Given the description of an element on the screen output the (x, y) to click on. 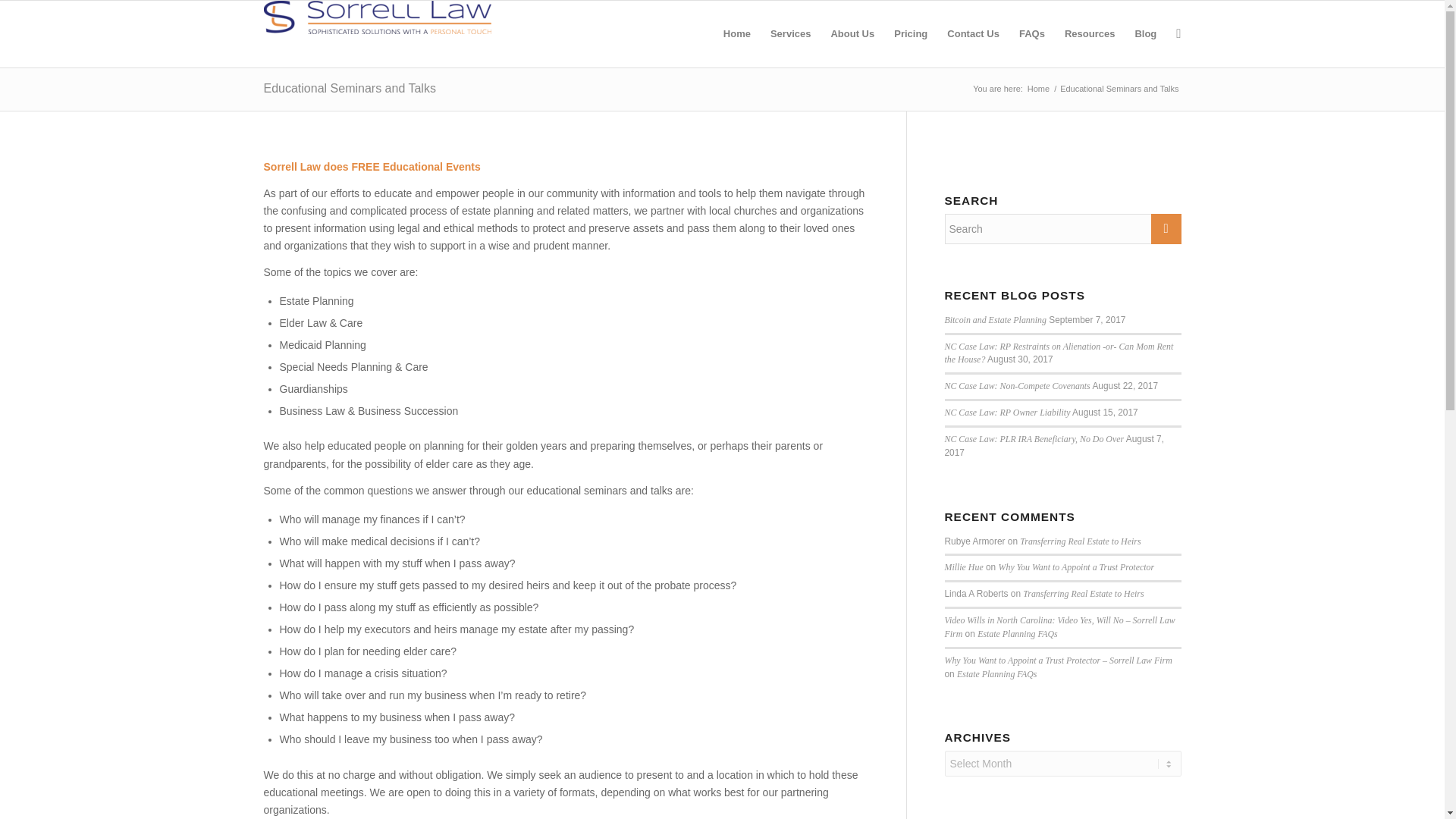
Home (1038, 89)
About Us (852, 33)
Sorrell Law Firm (1038, 89)
Contact Us (973, 33)
Permanent Link: Educational Seminars and Talks (349, 88)
Resources (1089, 33)
NC Case Law: Non-Compete Covenants (1017, 385)
Educational Seminars and Talks (349, 88)
Bitcoin and Estate Planning (995, 319)
